Given the description of an element on the screen output the (x, y) to click on. 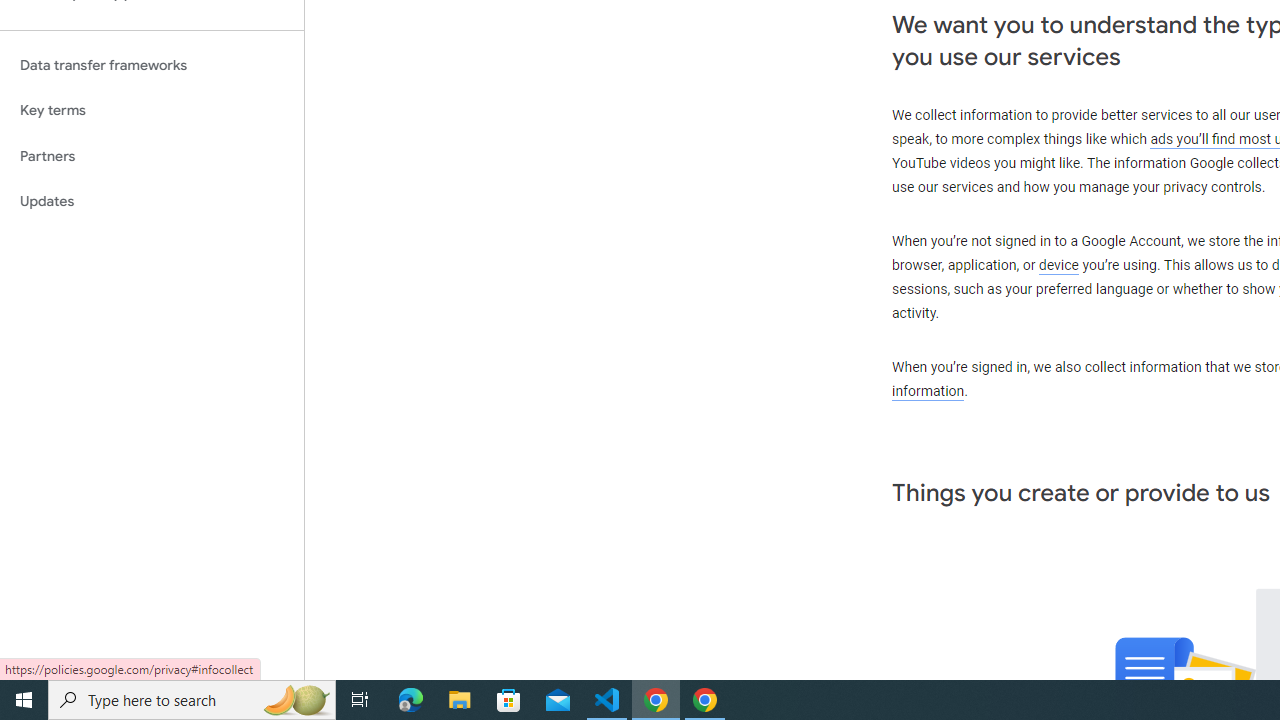
device (1059, 265)
Updates (152, 201)
Data transfer frameworks (152, 65)
Key terms (152, 110)
Partners (152, 156)
